Given the description of an element on the screen output the (x, y) to click on. 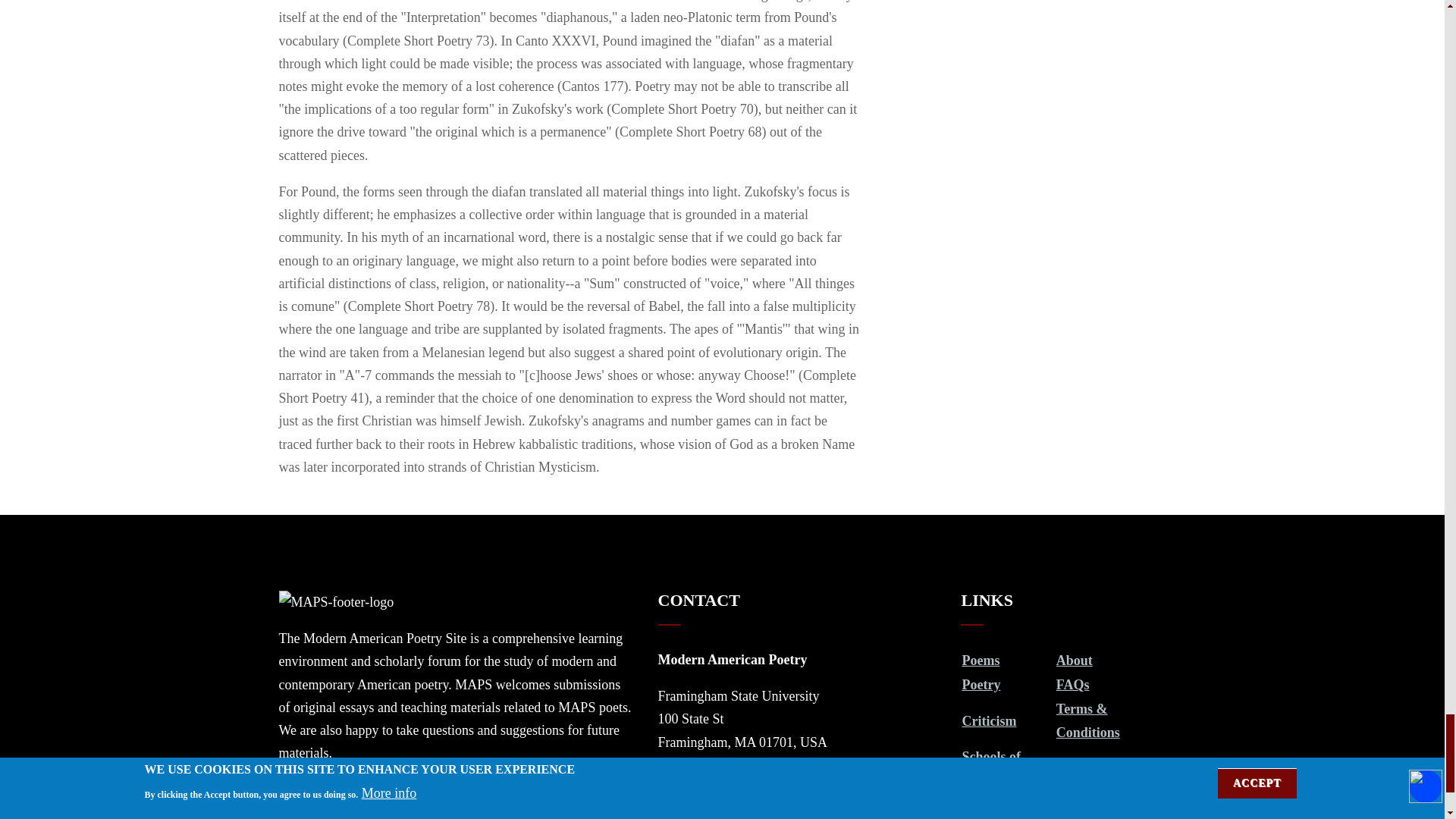
Login (977, 803)
Criticism (988, 720)
Schools of Poetry (990, 768)
Poetry (980, 684)
Poems (979, 660)
About (1075, 660)
Privacy Policy (1098, 767)
FAQs (1073, 684)
Email the Project (717, 778)
